Given the description of an element on the screen output the (x, y) to click on. 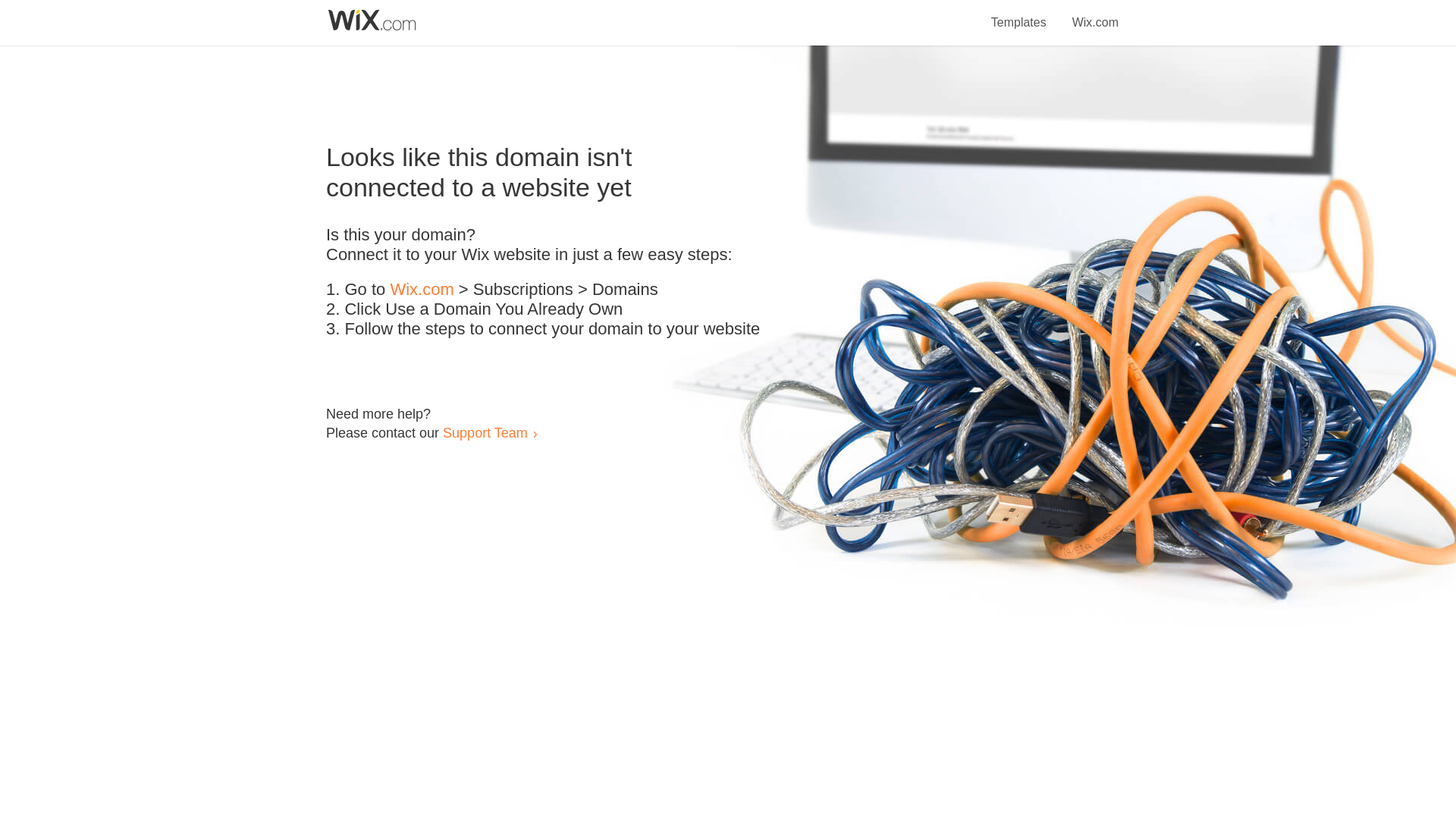
Templates (1018, 14)
Support Team (484, 432)
Wix.com (1095, 14)
Wix.com (421, 289)
